Given the description of an element on the screen output the (x, y) to click on. 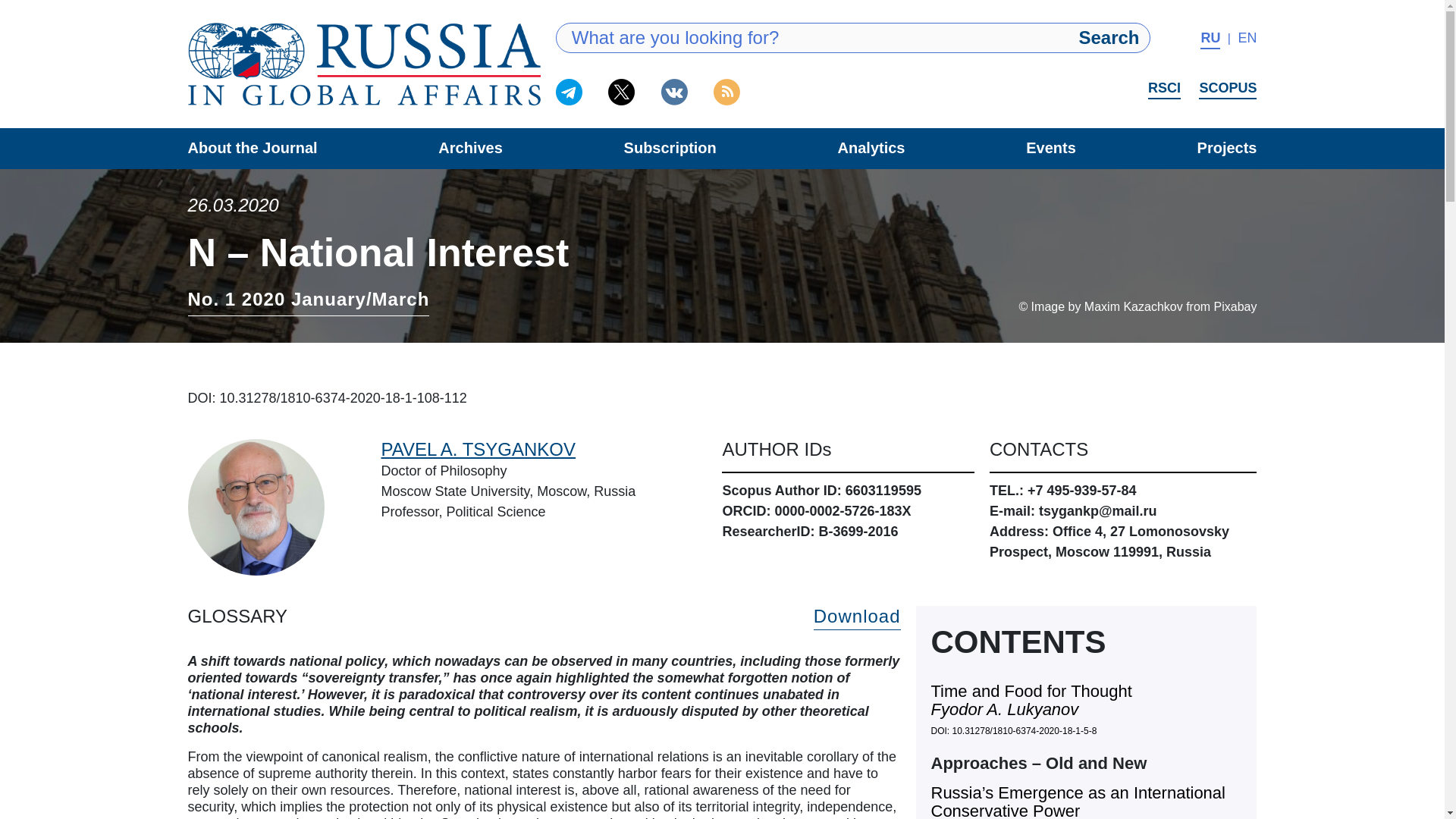
RSS (726, 91)
Analytics (871, 147)
About the Journal (252, 147)
RSCI (1164, 89)
Archives (470, 147)
Twitter (621, 91)
RU (1209, 39)
Search (1108, 37)
Telegram (569, 91)
Subscription (670, 147)
SCOPUS (1227, 89)
Vkontakte (674, 91)
